Given the description of an element on the screen output the (x, y) to click on. 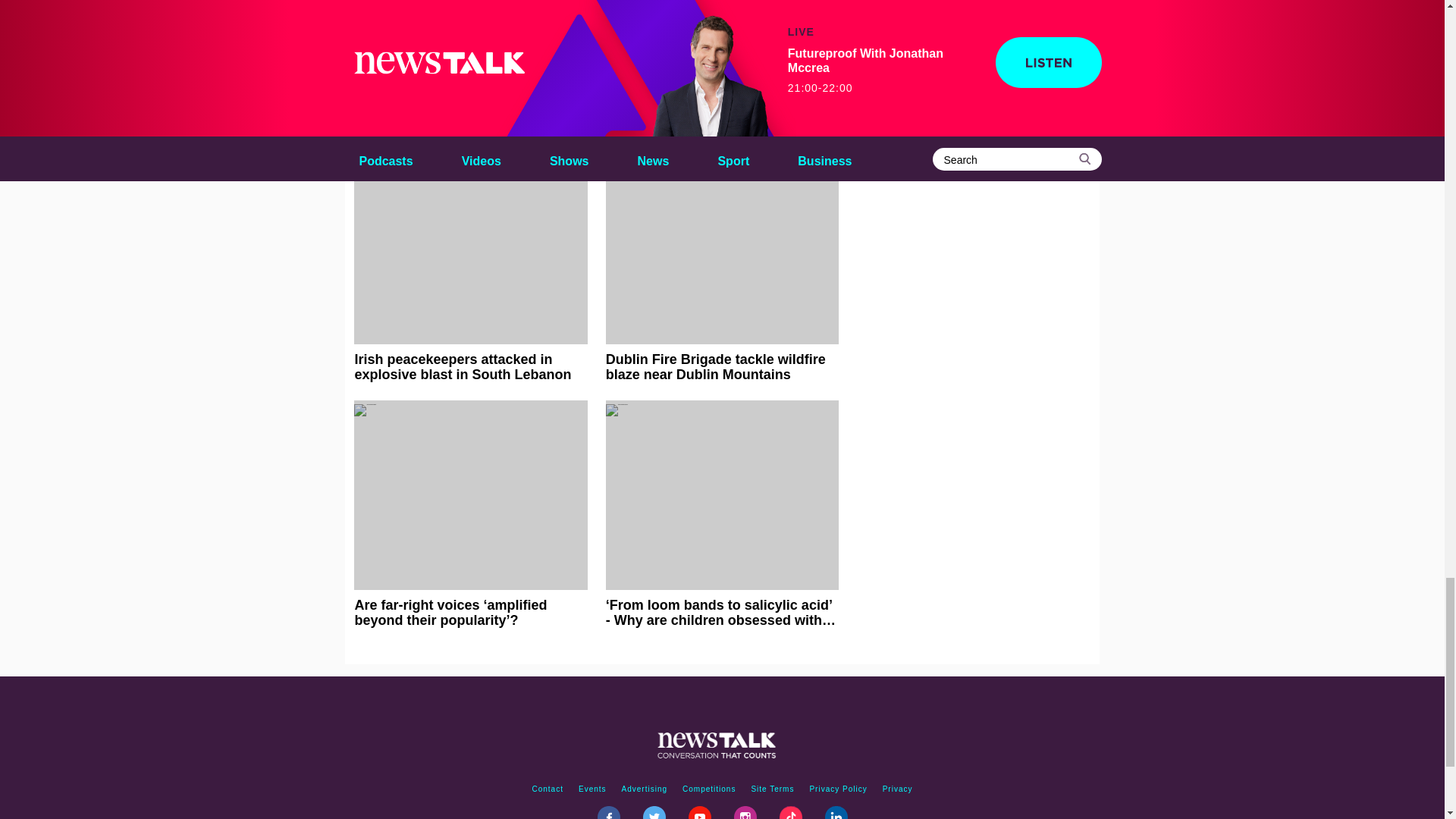
advertising (644, 789)
site terms (772, 789)
competitions (708, 789)
contact (547, 789)
GRA (579, 57)
events (592, 789)
Privacy Policy (838, 789)
Privacy (897, 789)
